Given the description of an element on the screen output the (x, y) to click on. 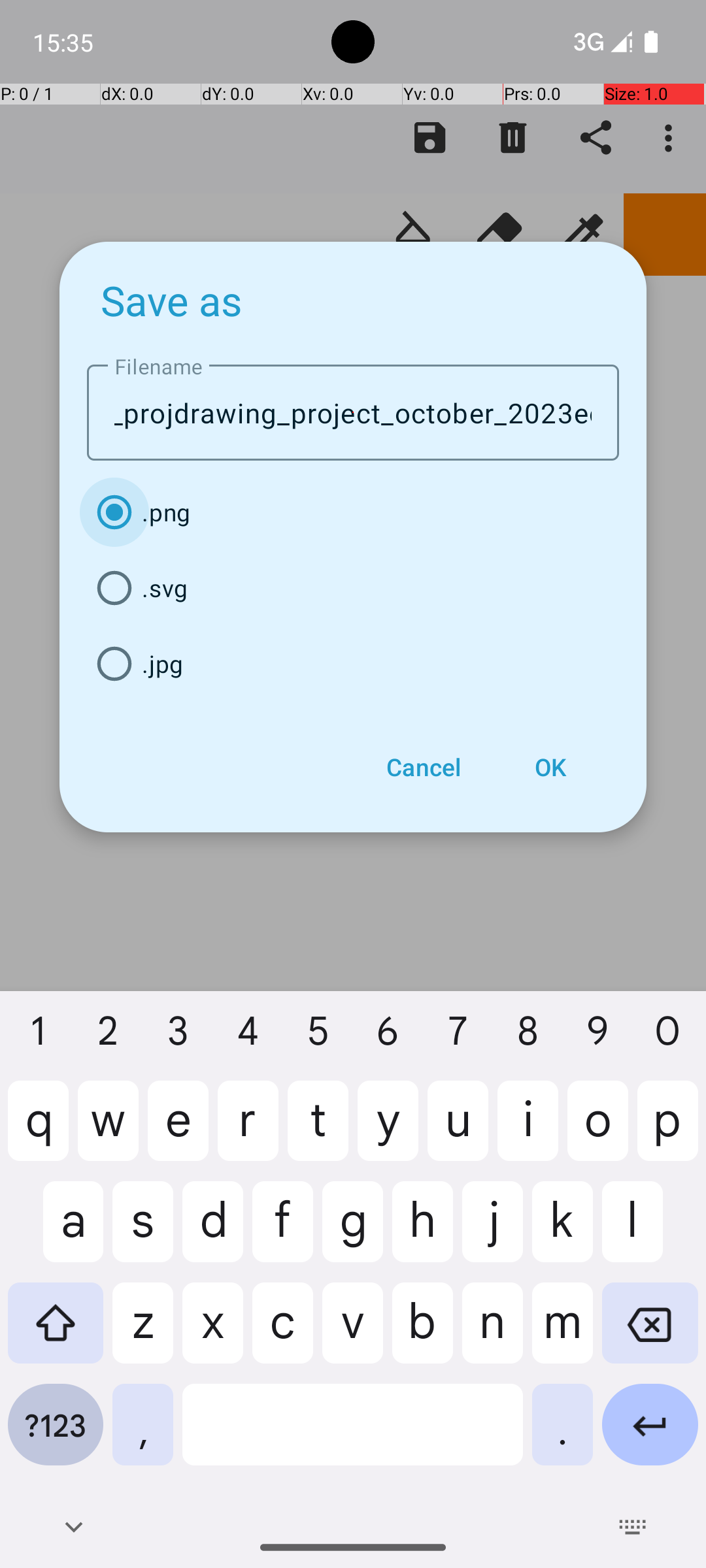
Save as Element type: android.widget.TextView (171, 299)
image_2023_10_1drawing_projdrawing_project_october_2023ect_october20235_15_34_17 Element type: android.widget.EditText (352, 412)
.png Element type: android.widget.RadioButton (352, 512)
.svg Element type: android.widget.RadioButton (352, 587)
.jpg Element type: android.widget.RadioButton (352, 663)
